Given the description of an element on the screen output the (x, y) to click on. 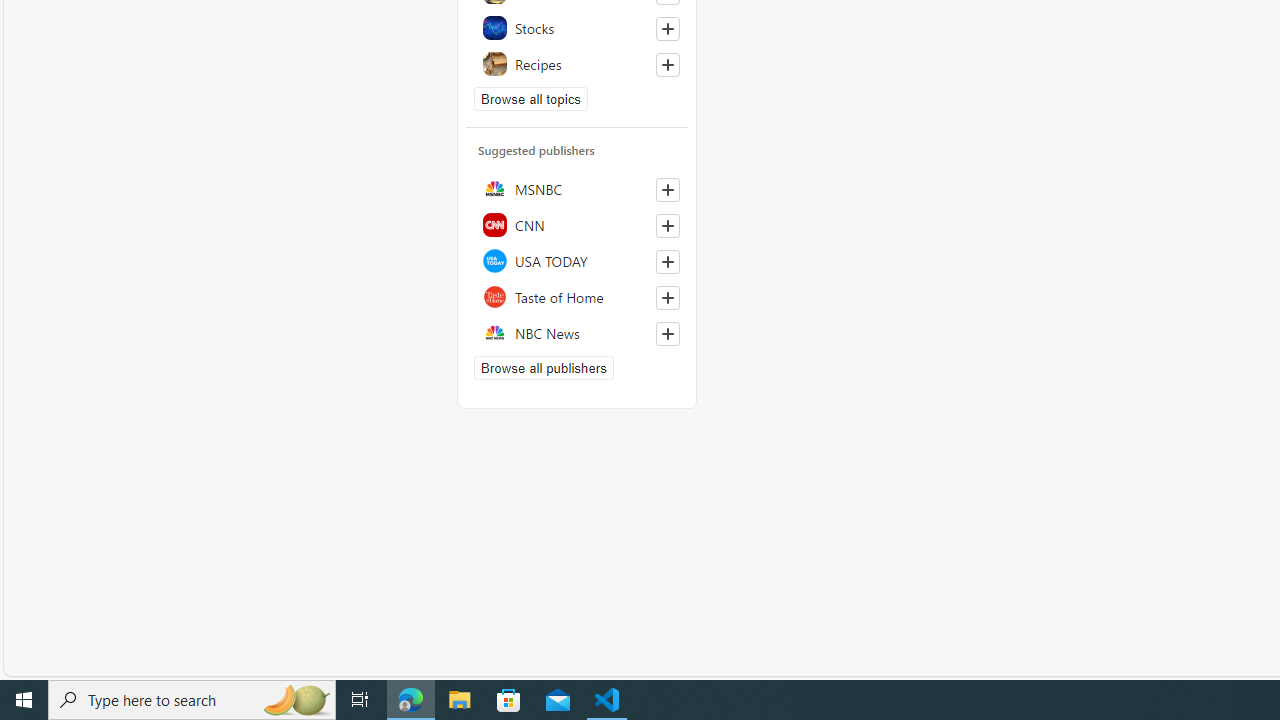
USA TODAY (577, 260)
Recipes (577, 63)
Follow this topic (667, 65)
Follow this source (667, 333)
Follow this source (667, 333)
NBC News (577, 332)
Taste of Home (577, 296)
Browse all publishers (543, 367)
MSNBC (577, 188)
Stocks (577, 27)
Browse all topics (530, 98)
Follow this topic (667, 65)
CNN (577, 224)
